Given the description of an element on the screen output the (x, y) to click on. 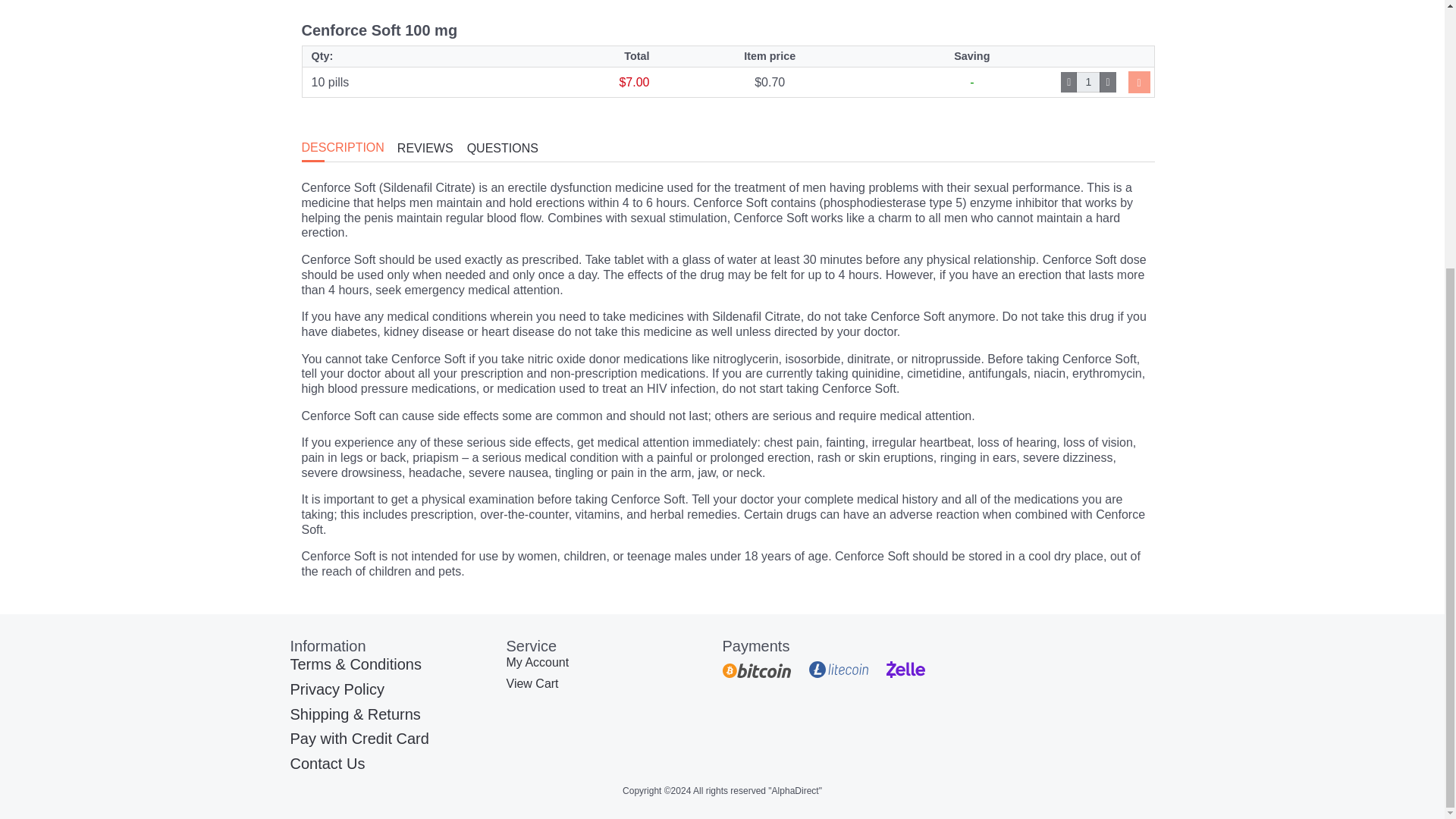
Add to cart (1139, 82)
1 (1087, 82)
